Given the description of an element on the screen output the (x, y) to click on. 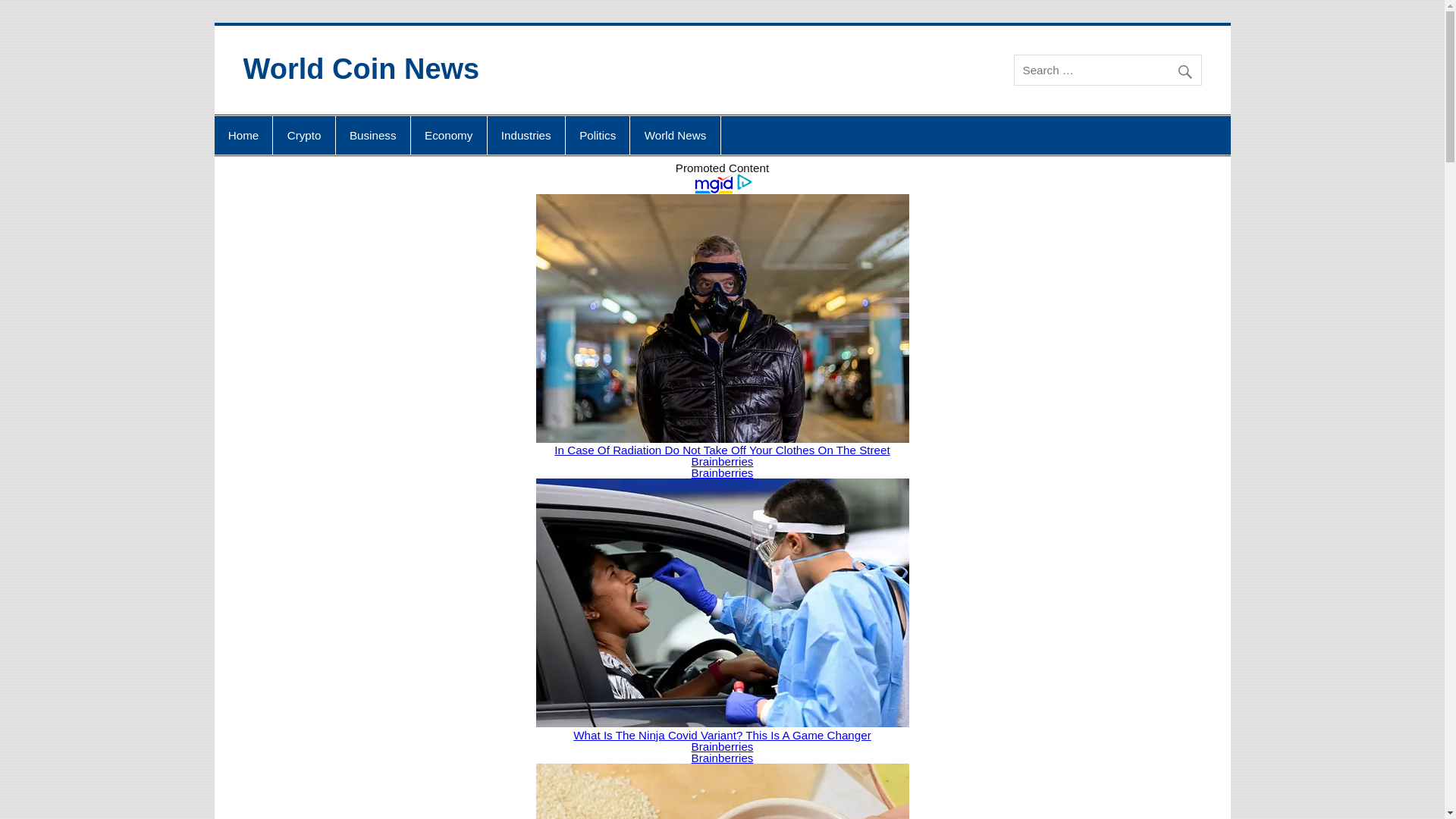
Business (373, 135)
Politics (598, 135)
Crypto (303, 135)
World Coin News (361, 69)
Home (243, 135)
Economy (448, 135)
World News (674, 135)
Industries (525, 135)
